Given the description of an element on the screen output the (x, y) to click on. 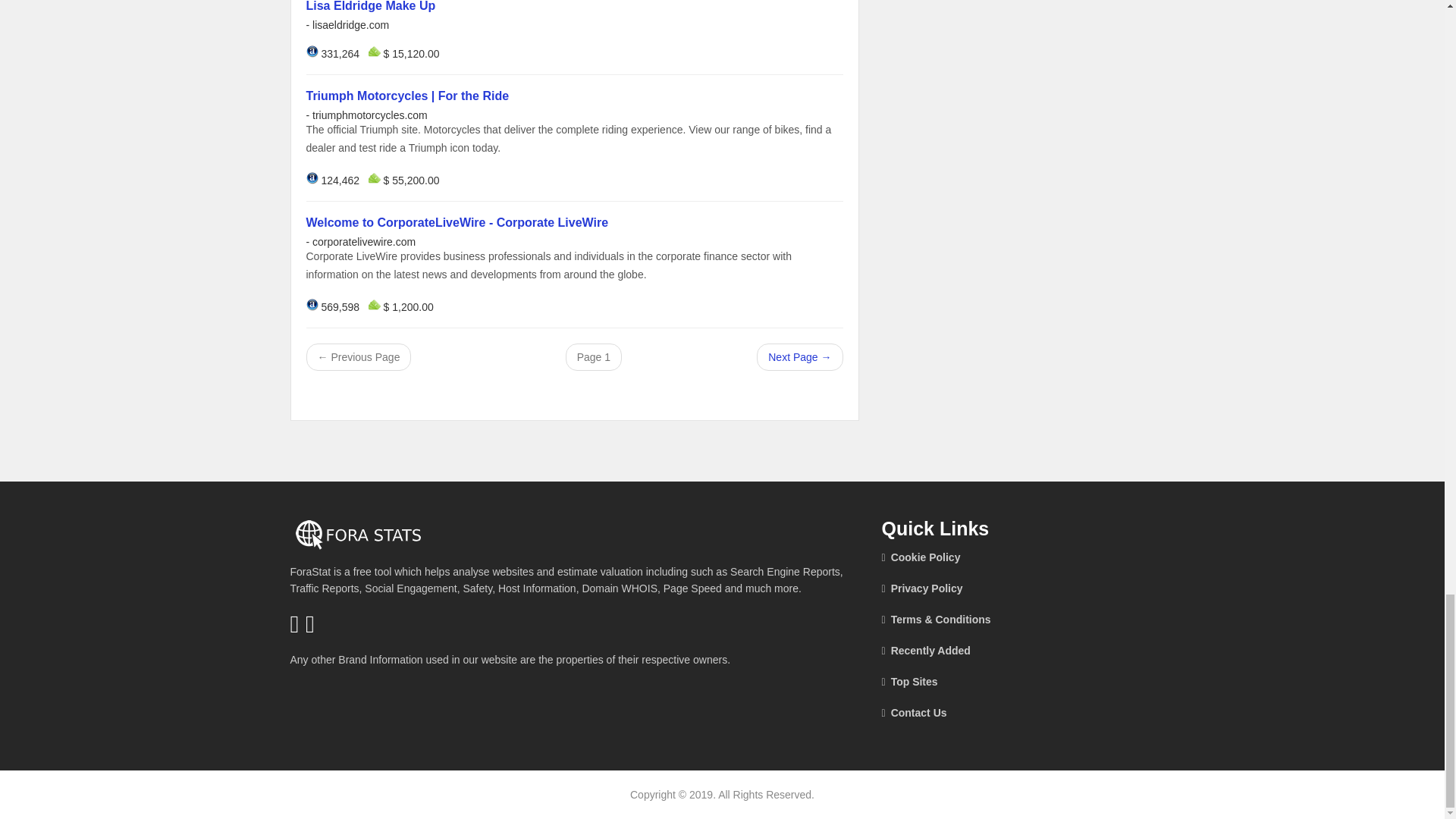
Welcome to CorporateLiveWire - Corporate LiveWire (456, 222)
Recently Added (980, 650)
Privacy Policy (980, 588)
Cookie Policy (980, 557)
Lisa Eldridge Make Up (370, 6)
Page 1 (593, 357)
